Given the description of an element on the screen output the (x, y) to click on. 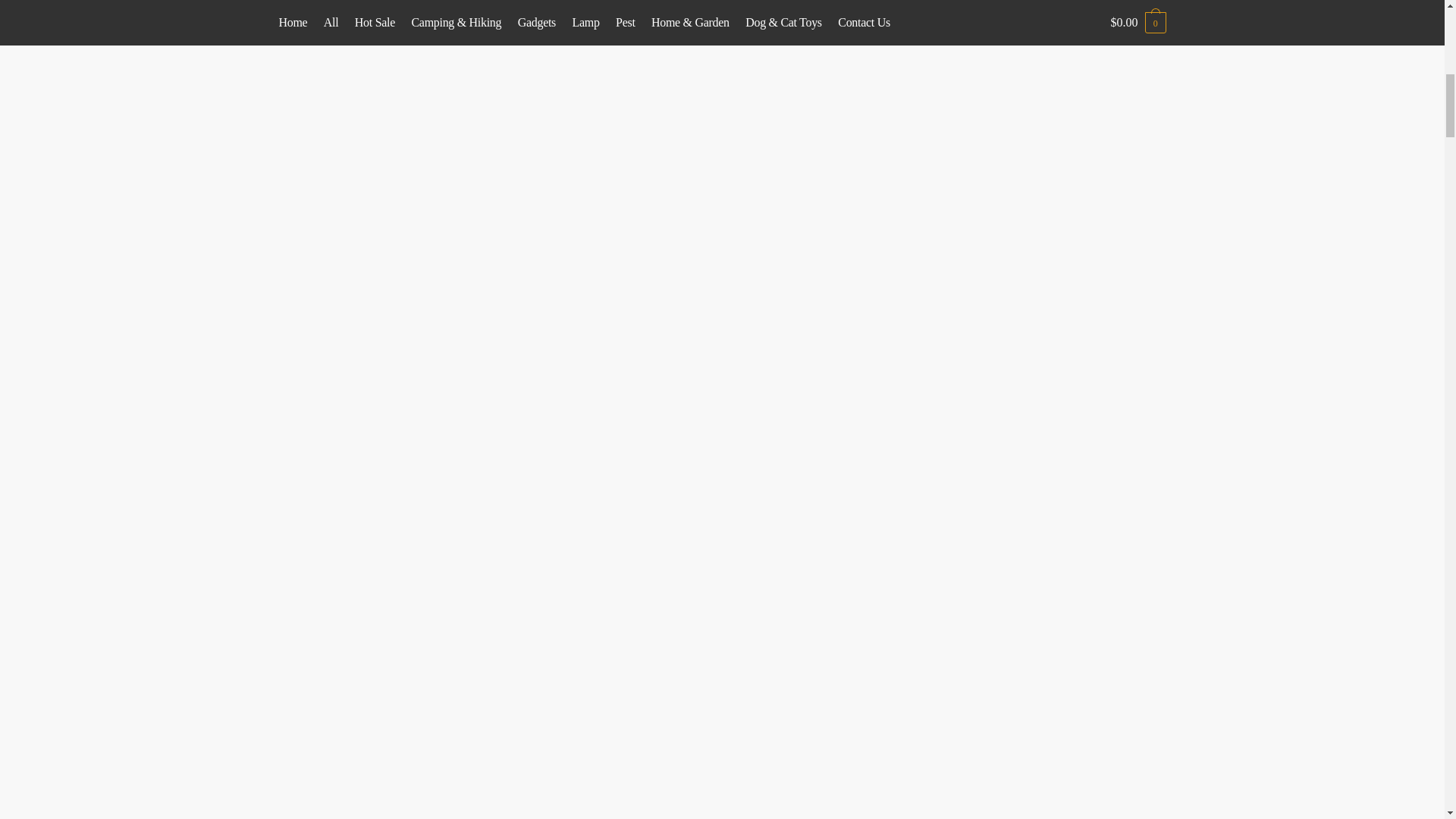
Select options (1121, 212)
